Given the description of an element on the screen output the (x, y) to click on. 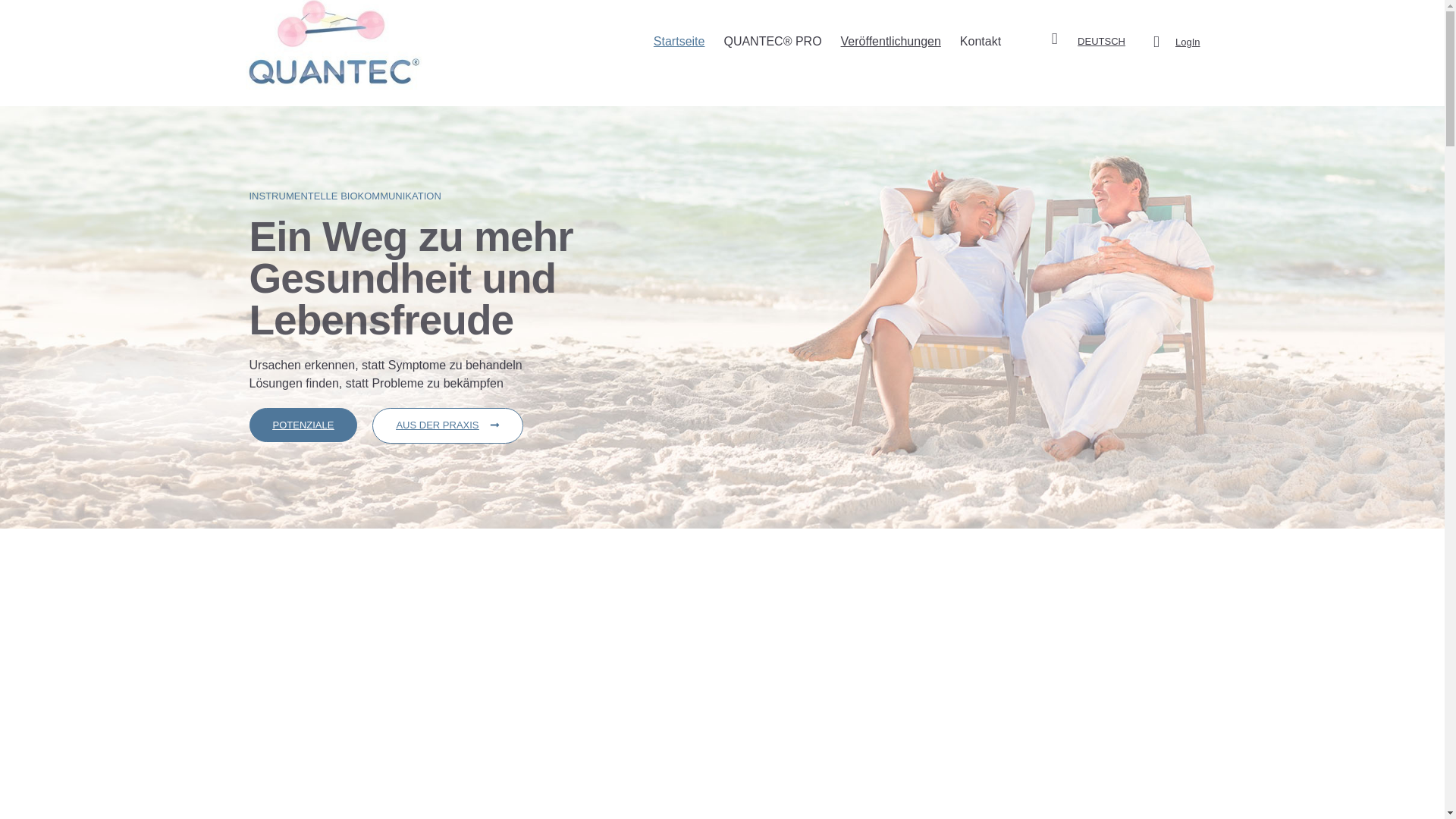
Deutsch (1101, 41)
